Given the description of an element on the screen output the (x, y) to click on. 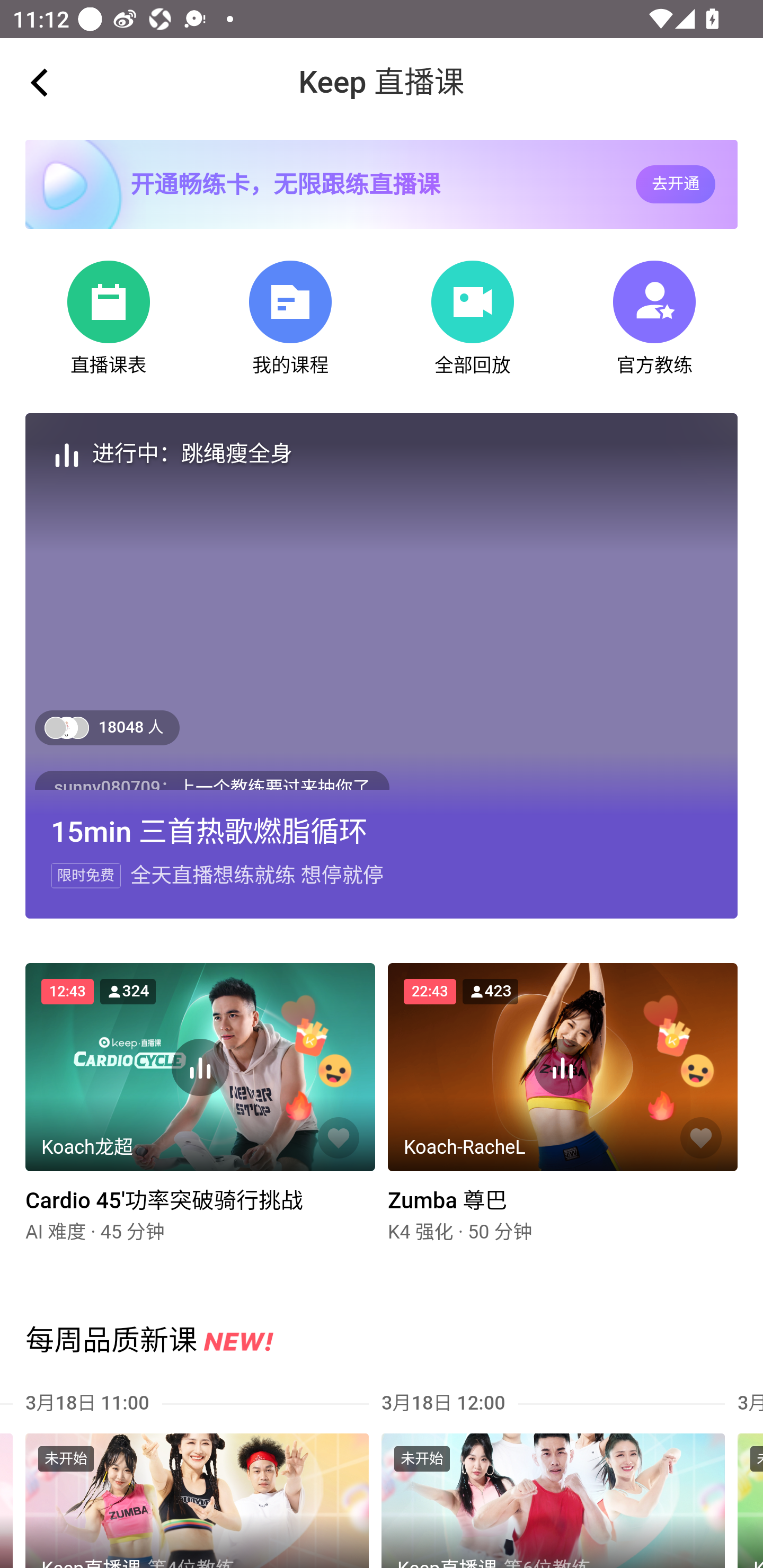
开通畅练卡，无限跟练直播课 去开通 (381, 183)
进行中：跳绳瘦全身 15min 三首热歌燃脂循环 限时免费 全天直播想练就练 想停就停 (381, 665)
12:43 Koach龙超 Cardio 45'功率突破骑行挑战 AI 难度 · 45 分钟 (200, 1112)
22:43 Koach-RacheL Zumba 尊巴 K4 强化 · 50 分钟 (561, 1112)
3月18日 11:00 未开始 Keep直播课等4位教练 (203, 1478)
3月18日 12:00 未开始 Keep直播课等6位教练 (559, 1478)
